Given the description of an element on the screen output the (x, y) to click on. 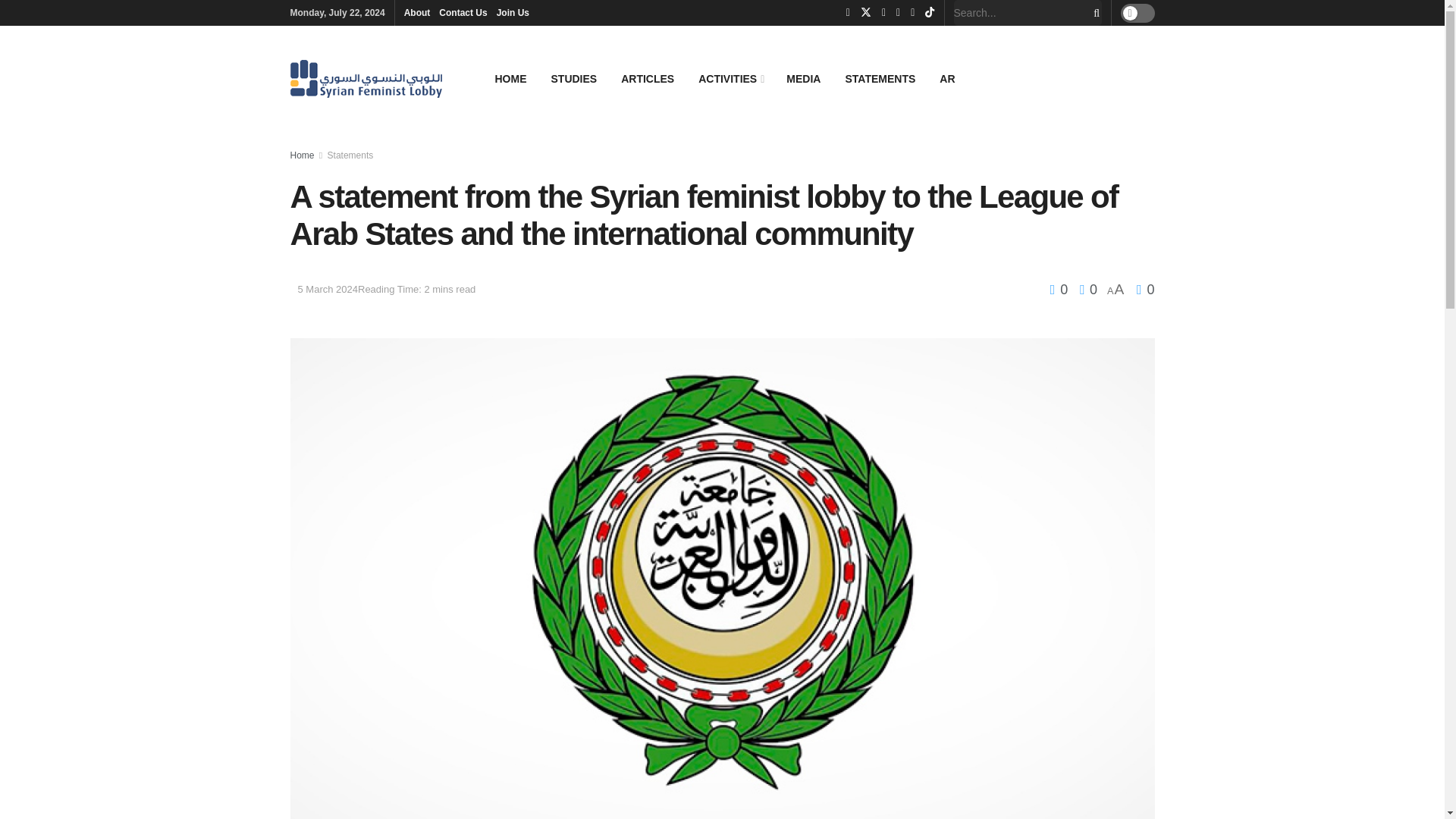
ARTICLES (646, 78)
Home (301, 154)
ACTIVITIES (729, 78)
AR (946, 78)
Contact Us (462, 12)
About (417, 12)
Join Us (512, 12)
STATEMENTS (879, 78)
MEDIA (803, 78)
HOME (509, 78)
STUDIES (573, 78)
